Given the description of an element on the screen output the (x, y) to click on. 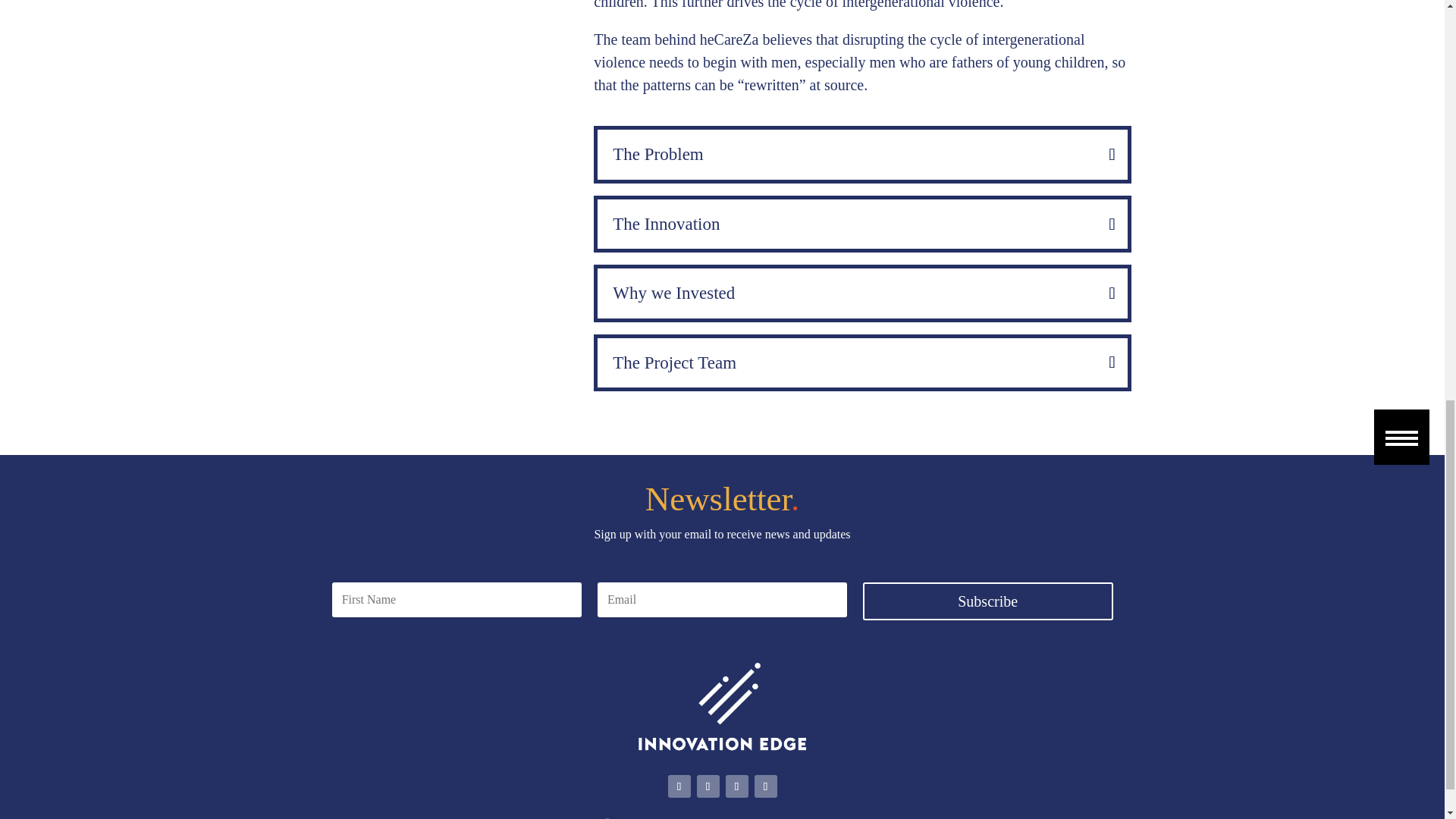
Follow on LinkedIn (736, 785)
Follow on Instagram (765, 785)
Follow on X (707, 785)
Follow on Facebook (678, 785)
Subscribe (988, 600)
Privacy Policy (855, 818)
True Identity (788, 818)
